Given the description of an element on the screen output the (x, y) to click on. 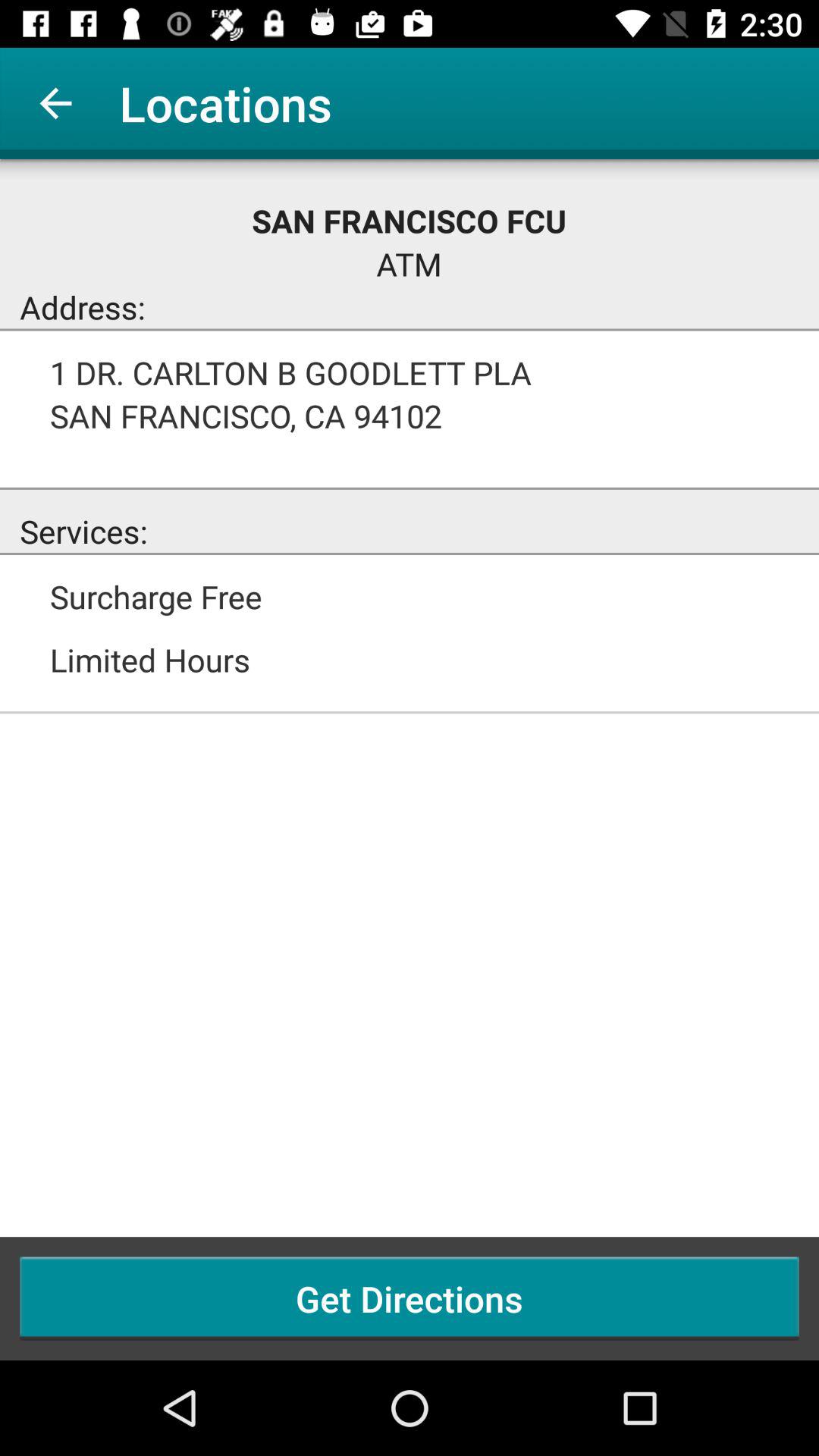
flip to the get directions icon (409, 1298)
